Given the description of an element on the screen output the (x, y) to click on. 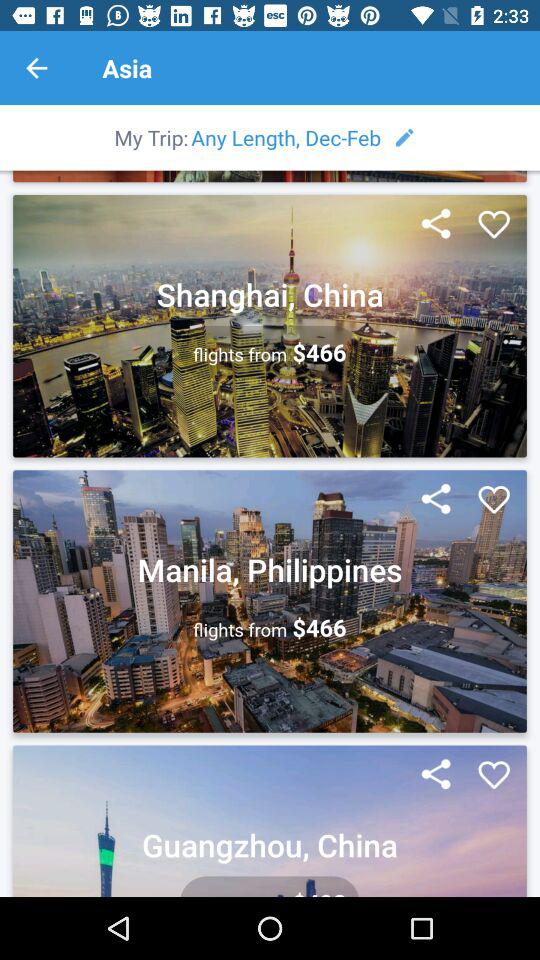
to share (435, 500)
